Given the description of an element on the screen output the (x, y) to click on. 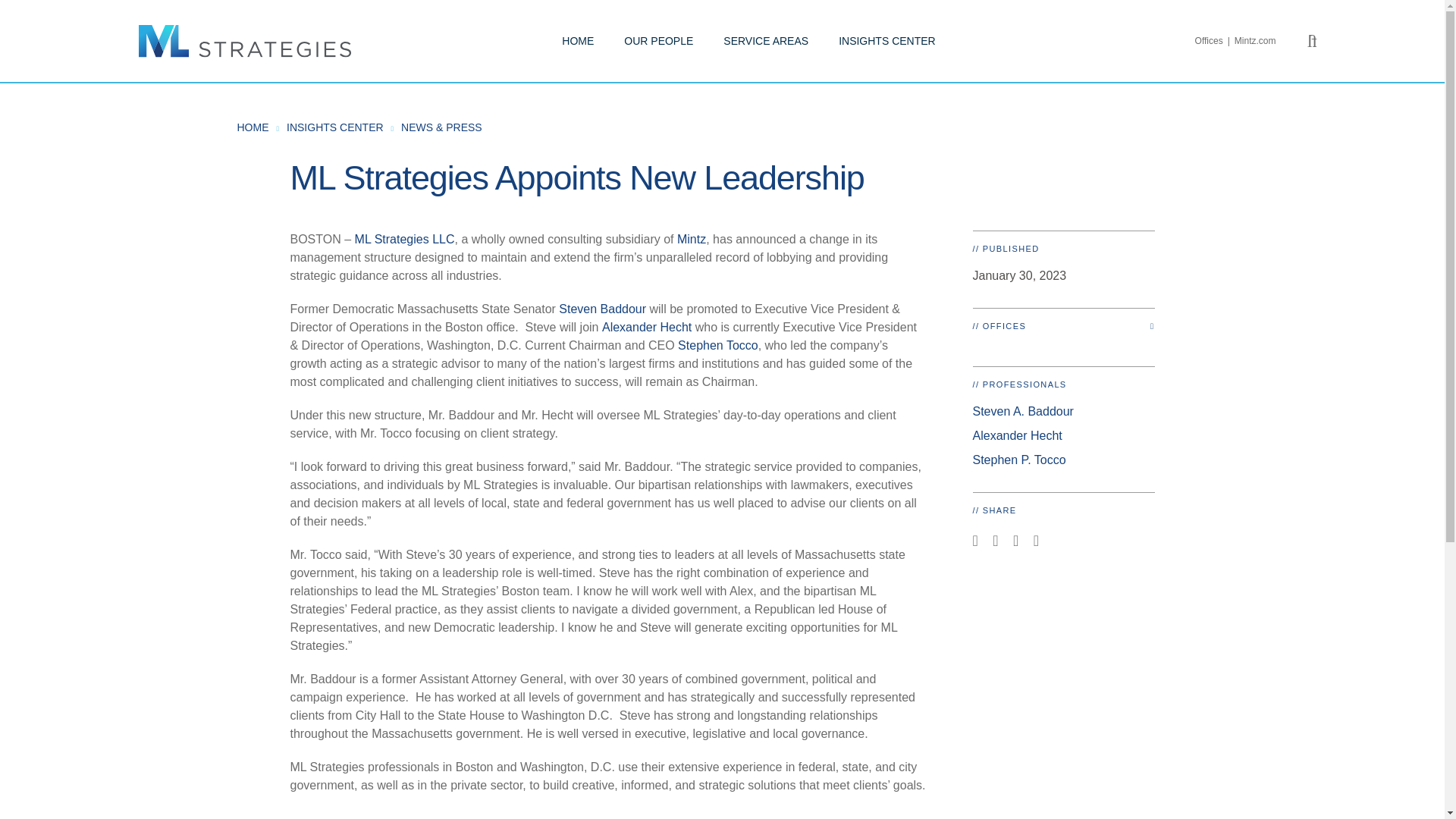
Mintz.com (1255, 40)
Open Search (1312, 40)
Alexander Hecht (1016, 435)
Mintz (691, 238)
SERVICE AREAS (765, 40)
OUR PEOPLE (658, 40)
Steven Baddour (602, 308)
Stephen P. Tocco (1018, 459)
INSIGHTS CENTER (335, 127)
Alexander Hecht (646, 327)
HOME (251, 127)
Stephen Tocco (718, 345)
ML Strategies LLC (404, 238)
INSIGHTS CENTER (887, 40)
